Given the description of an element on the screen output the (x, y) to click on. 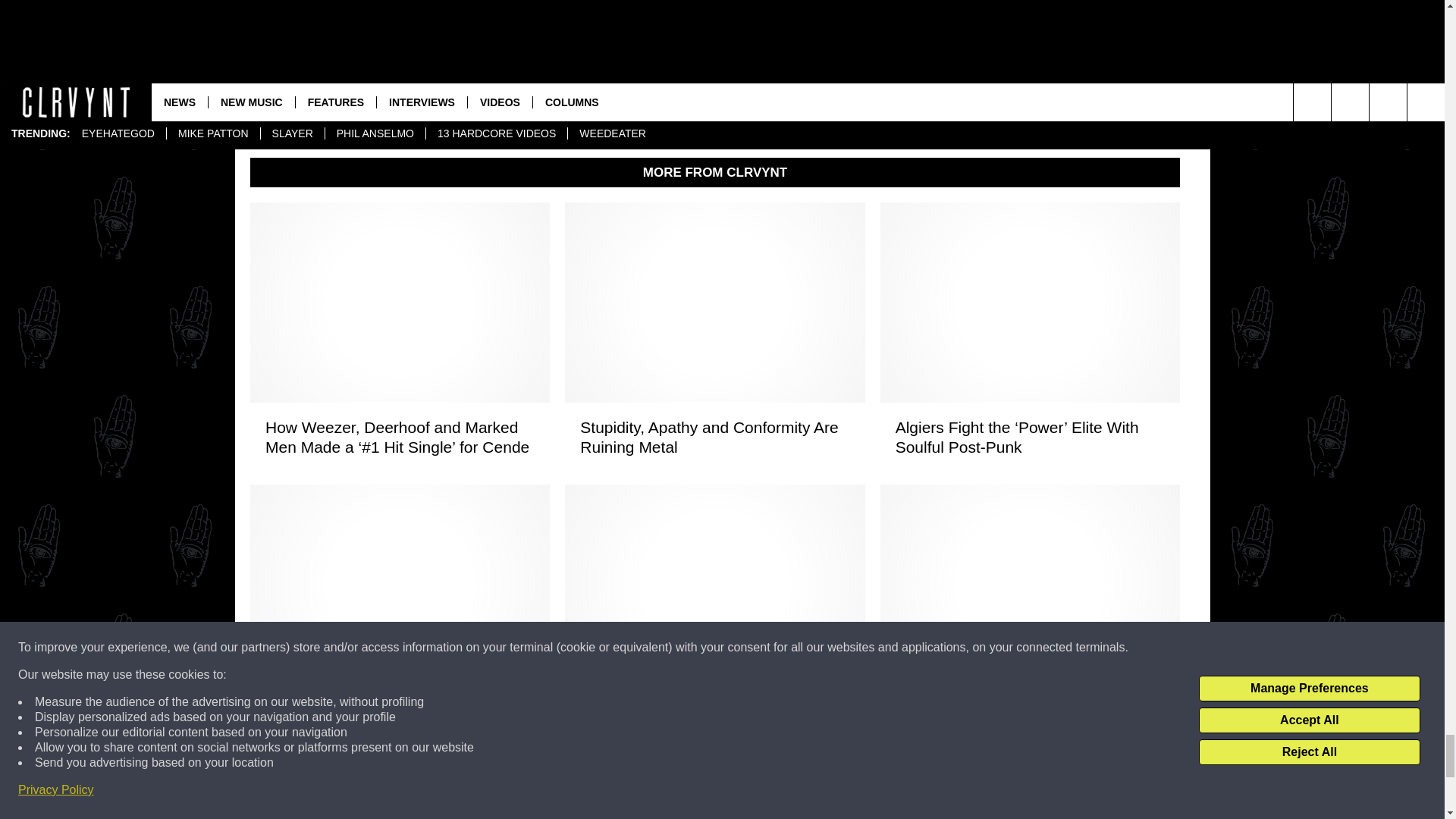
Stupidity, Apathy and Conformity Are Ruining Metal (713, 437)
Five Indie Bands That Will Make Dad Feel Cool (713, 718)
Features (405, 16)
